Given the description of an element on the screen output the (x, y) to click on. 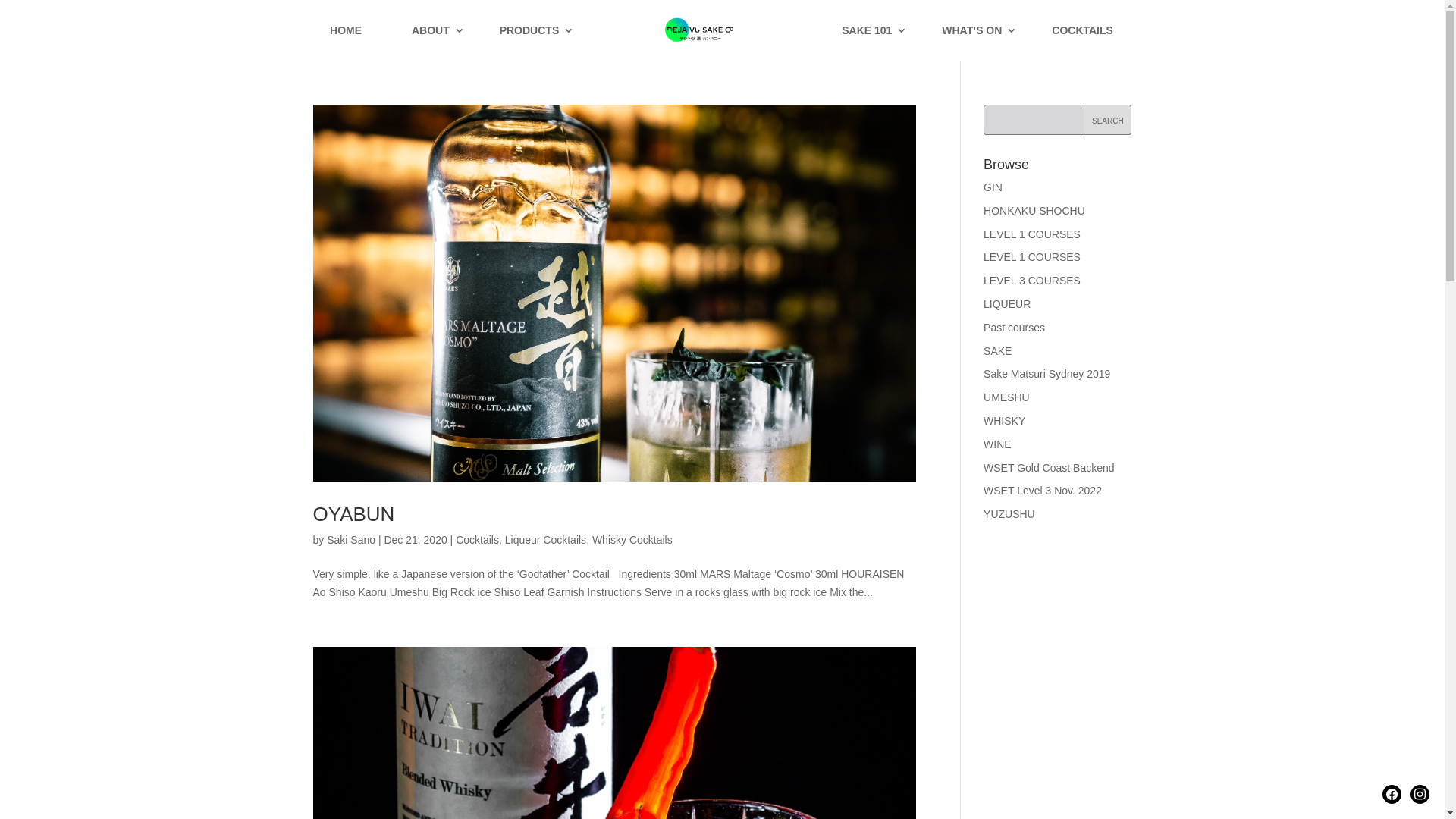
UMESHU Element type: text (1006, 397)
Whisky Cocktails Element type: text (632, 539)
WHISKY Element type: text (1004, 420)
LEVEL 3 COURSES Element type: text (1031, 280)
SAKE 101 Element type: text (866, 42)
OYABUN Element type: text (353, 513)
Saki Sano Element type: text (350, 539)
PRODUCTS Element type: text (529, 42)
WINE Element type: text (997, 444)
HOME Element type: text (345, 42)
YUZUSHU Element type: text (1009, 514)
Past courses Element type: text (1013, 327)
Cocktails Element type: text (476, 539)
LIQUEUR Element type: text (1006, 304)
facebook Element type: text (1391, 793)
WSET Gold Coast Backend Element type: text (1048, 467)
GIN Element type: text (992, 187)
SAKE Element type: text (997, 351)
HONKAKU SHOCHU Element type: text (1034, 210)
COCKTAILS Element type: text (1082, 42)
Sake Matsuri Sydney 2019 Element type: text (1046, 373)
LEVEL 1 COURSES Element type: text (1031, 234)
Search Element type: text (1107, 119)
WSET Level 3 Nov. 2022 Element type: text (1042, 490)
ABOUT Element type: text (430, 42)
instagram Element type: text (1419, 793)
LEVEL 1 COURSES Element type: text (1031, 257)
Liqueur Cocktails Element type: text (545, 539)
